Given the description of an element on the screen output the (x, y) to click on. 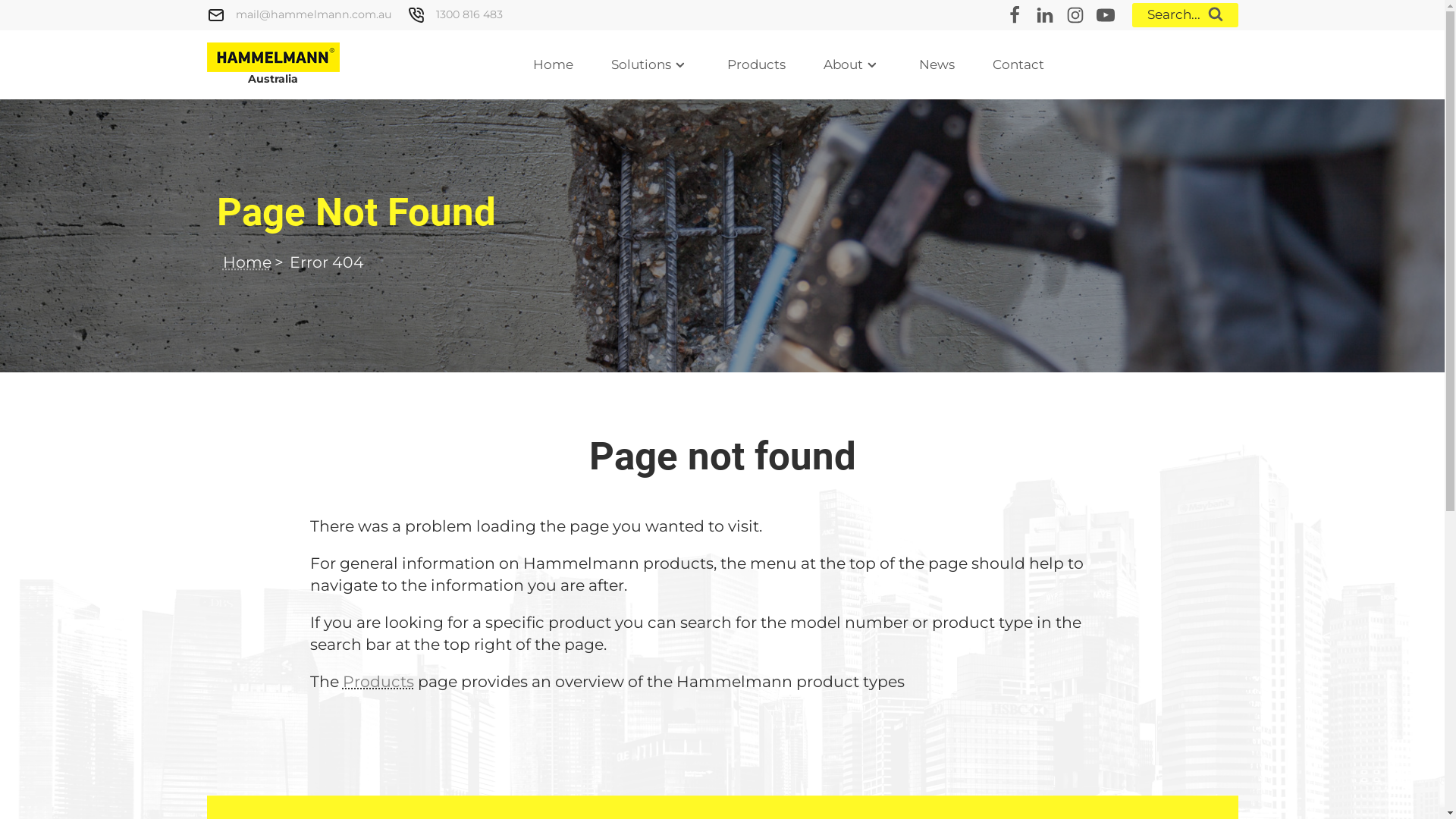
Home Element type: text (553, 64)
1300 816 483 Element type: text (468, 14)
Search... Element type: text (1184, 15)
Solutions Element type: text (650, 64)
Australia Element type: text (272, 64)
Search Element type: text (28, 11)
Home Element type: text (246, 262)
About Element type: text (852, 64)
Products Element type: text (756, 64)
News Element type: text (936, 64)
mail@hammelmann.com.au Element type: text (313, 14)
Contact Element type: text (1018, 64)
Products Element type: text (378, 682)
